Given the description of an element on the screen output the (x, y) to click on. 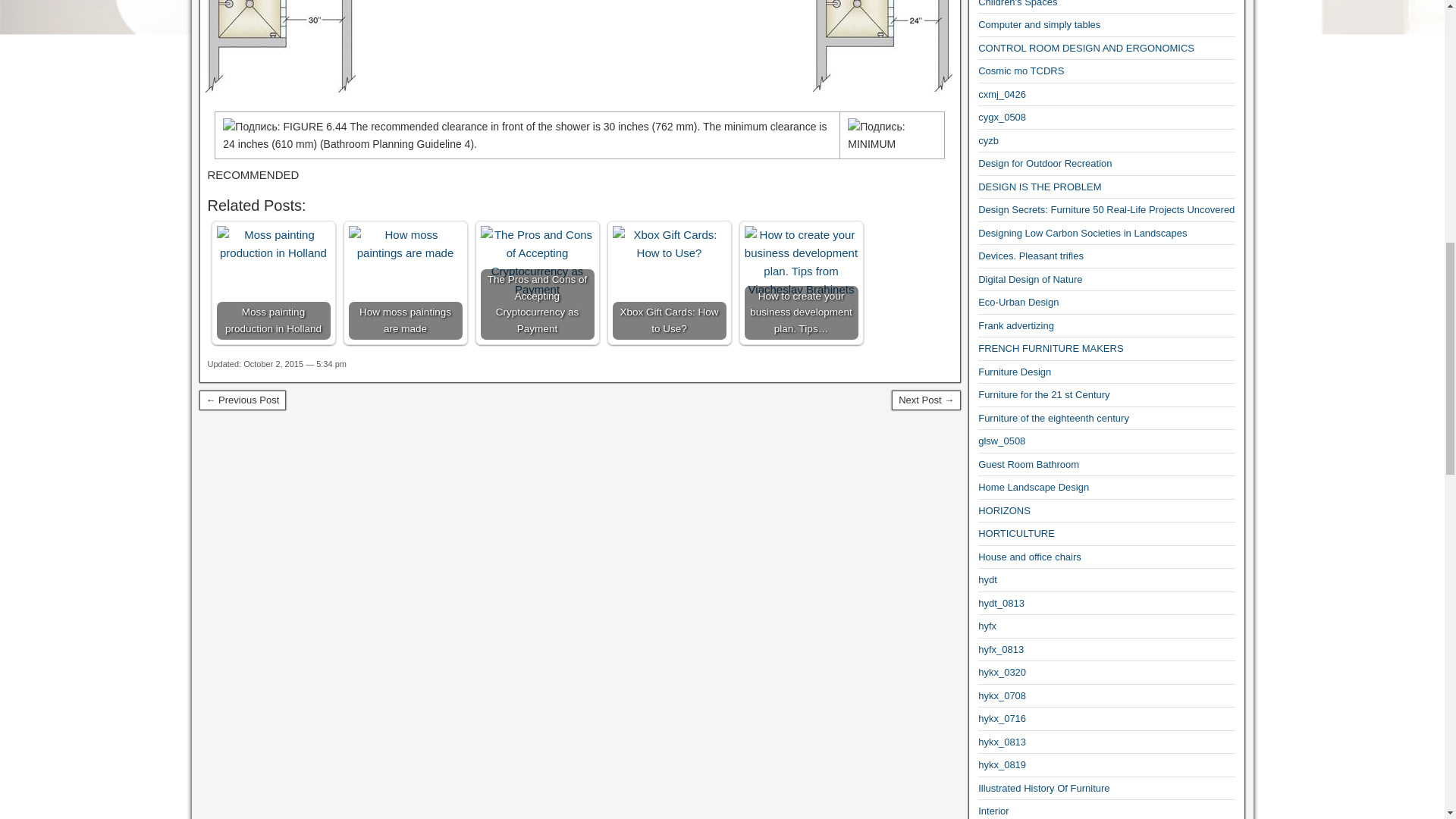
Xbox Gift Cards: How to Use? (669, 244)
Devices. Pleasant trifles (1030, 255)
Storage (882, 45)
Computer and simply tables (1039, 24)
CONTROL ROOM DESIGN AND ERGONOMICS (1085, 48)
The Pros and Cons of Accepting Cryptocurrency as Payment (537, 262)
Moss painting production in Holland (273, 244)
The Pros and Cons of Accepting Cryptocurrency as Payment (537, 282)
Moss painting production in Holland (273, 282)
How moss paintings are made (406, 244)
